Given the description of an element on the screen output the (x, y) to click on. 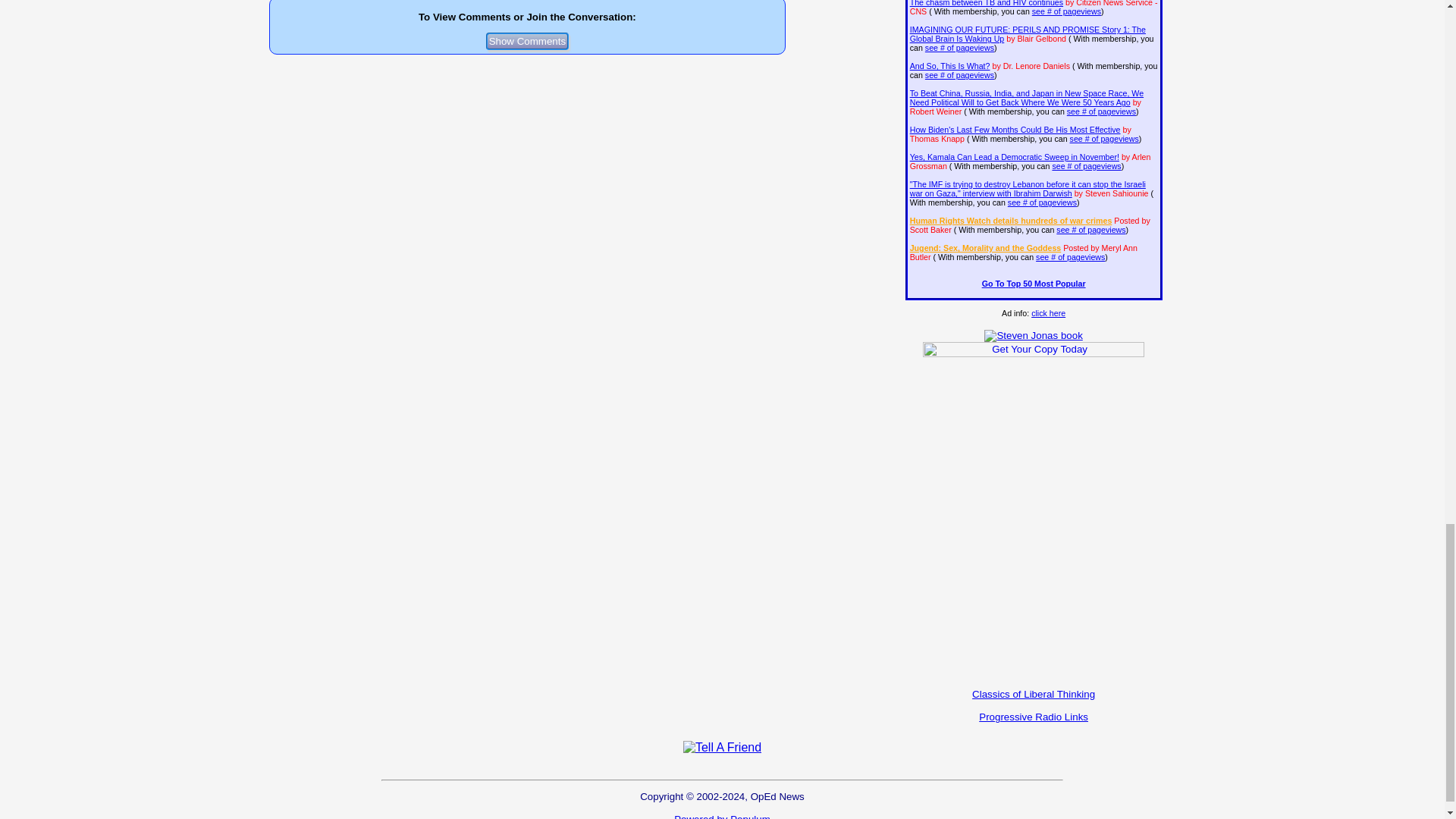
Show Comments (527, 40)
